Given the description of an element on the screen output the (x, y) to click on. 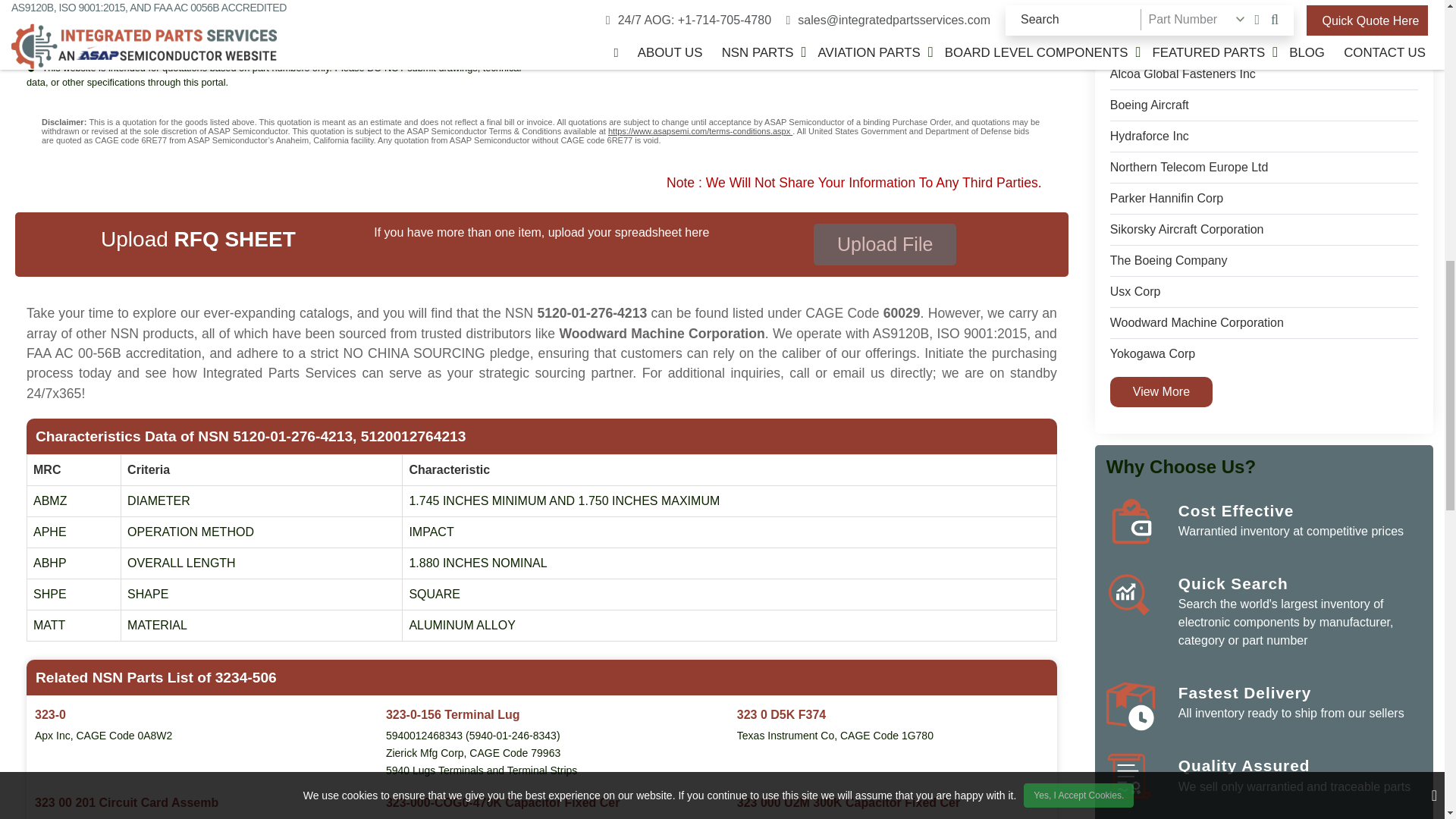
Sikorsky Aircraft Corporation (1186, 229)
Alcoa Global Fasteners Inc (1182, 74)
RFQ disclaimer (541, 130)
Hydraforce Inc (1149, 136)
Usx Corp (1134, 291)
Woodward Machine Corporation (1196, 322)
The Boeing Company (1168, 260)
Yokogawa Corp (1152, 353)
Parker Hannifin Corp (1166, 198)
Boeing Aircraft (1149, 105)
